Given the description of an element on the screen output the (x, y) to click on. 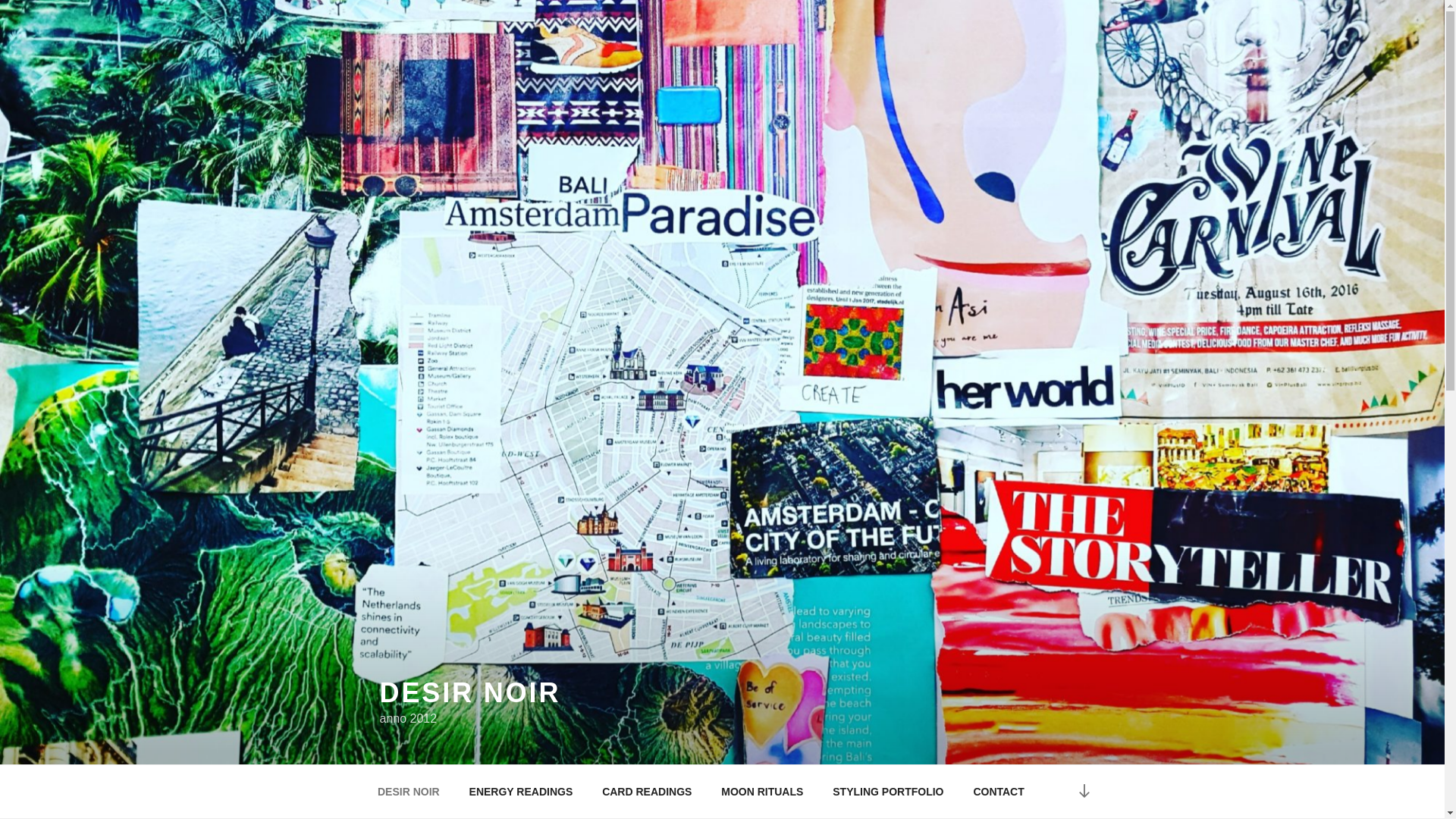
Scroll down to content (1082, 791)
DESIR NOIR (469, 692)
ENERGY READINGS (520, 791)
CONTACT (997, 791)
DESIR NOIR (408, 791)
STYLING PORTFOLIO (887, 791)
CARD READINGS (646, 791)
MOON RITUALS (761, 791)
Scroll down to content (1082, 791)
